Given the description of an element on the screen output the (x, y) to click on. 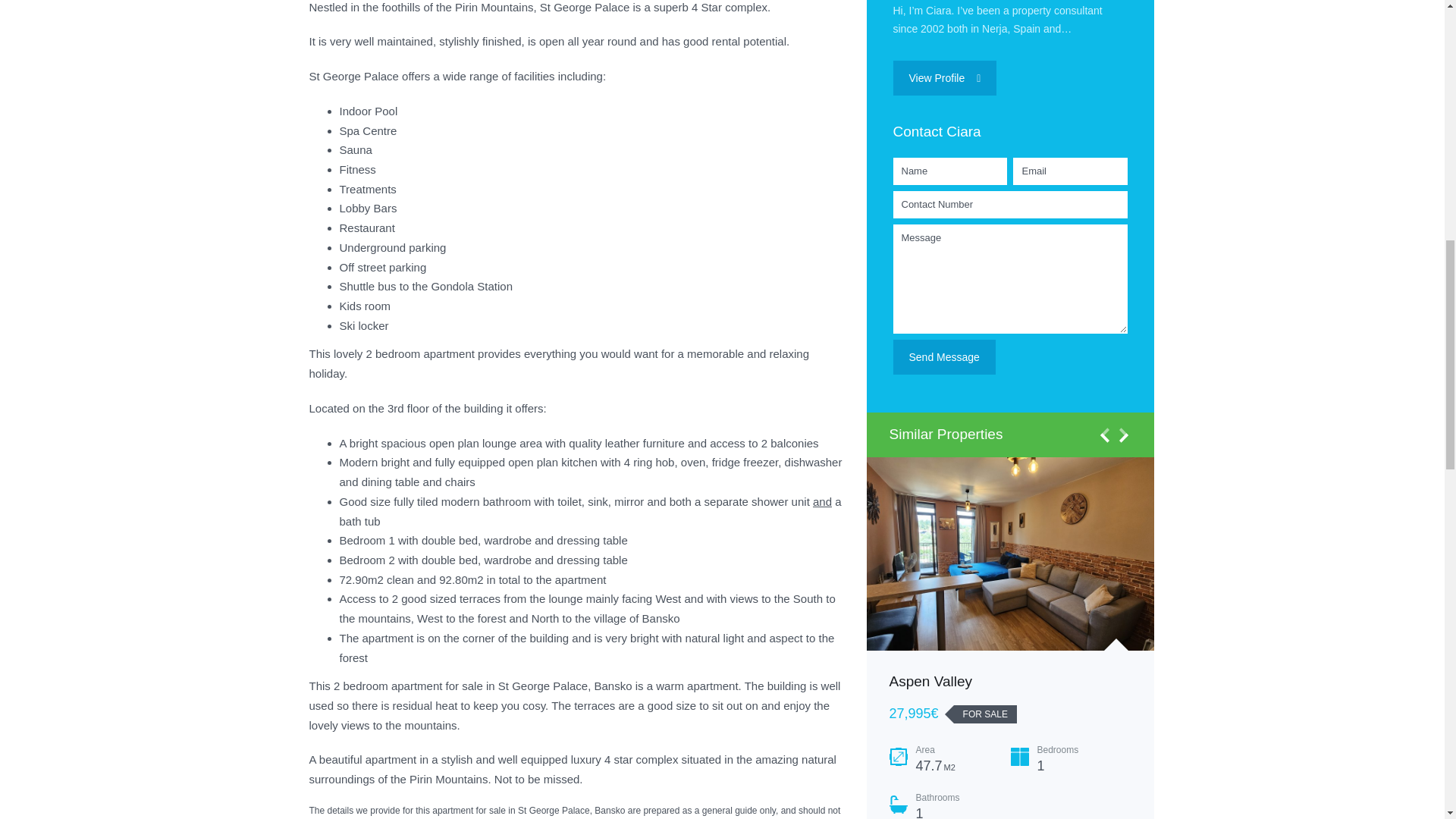
Send Message (944, 356)
